Given the description of an element on the screen output the (x, y) to click on. 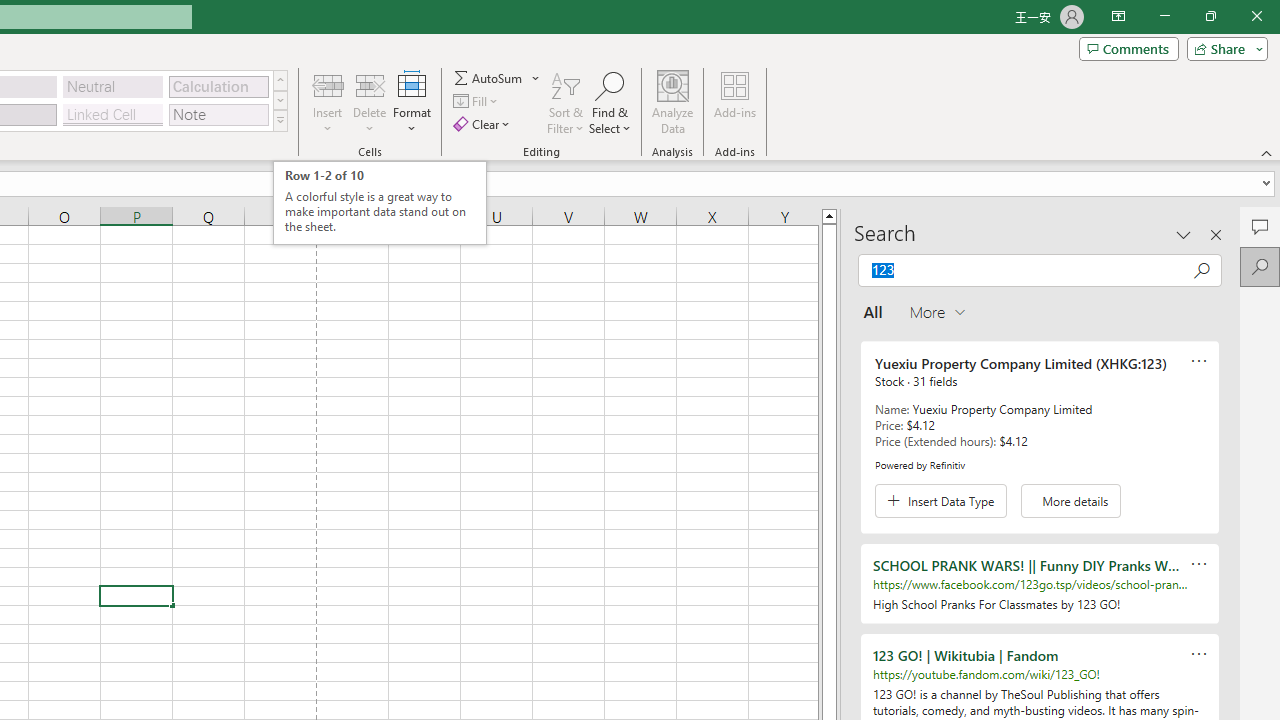
Find & Select (610, 102)
Linked Cell (113, 114)
Sum (489, 78)
Delete (369, 102)
Calculation (218, 86)
Format (411, 102)
AutoSum (497, 78)
Delete Cells... (369, 84)
Sort & Filter (566, 102)
